Given the description of an element on the screen output the (x, y) to click on. 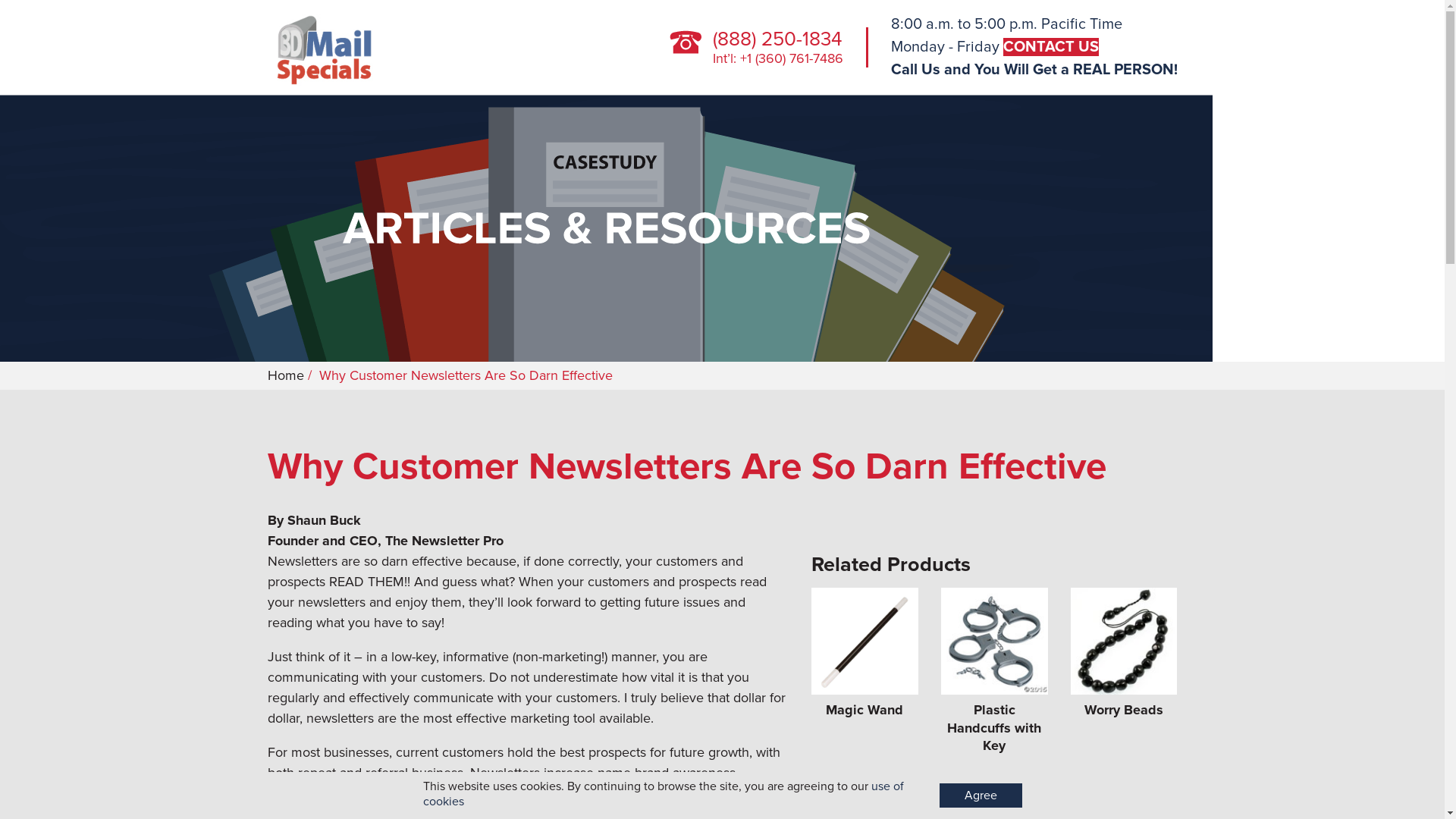
Home Element type: text (284, 375)
Magic Wand Element type: text (864, 674)
use of cookies Element type: text (663, 793)
Agree Element type: text (979, 795)
Worry Beads Element type: text (1124, 674)
CONTACT US Element type: text (1050, 46)
Plastic Handcuffs with Key Element type: text (994, 674)
3D Mail Specials Element type: hover (329, 45)
